Given the description of an element on the screen output the (x, y) to click on. 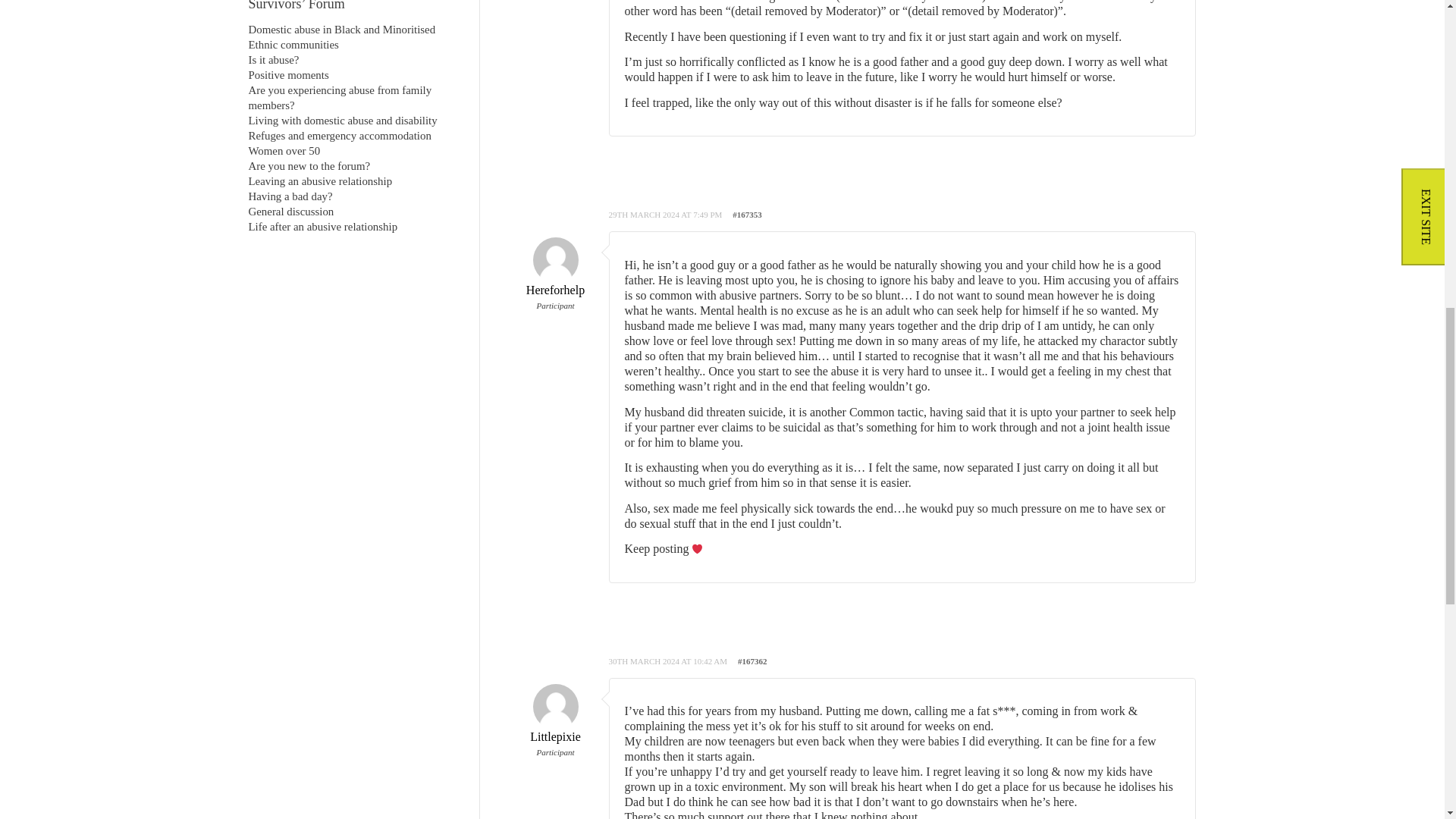
Hereforhelp (554, 275)
View Hereforhelp's profile (554, 275)
Littlepixie (554, 721)
